Given the description of an element on the screen output the (x, y) to click on. 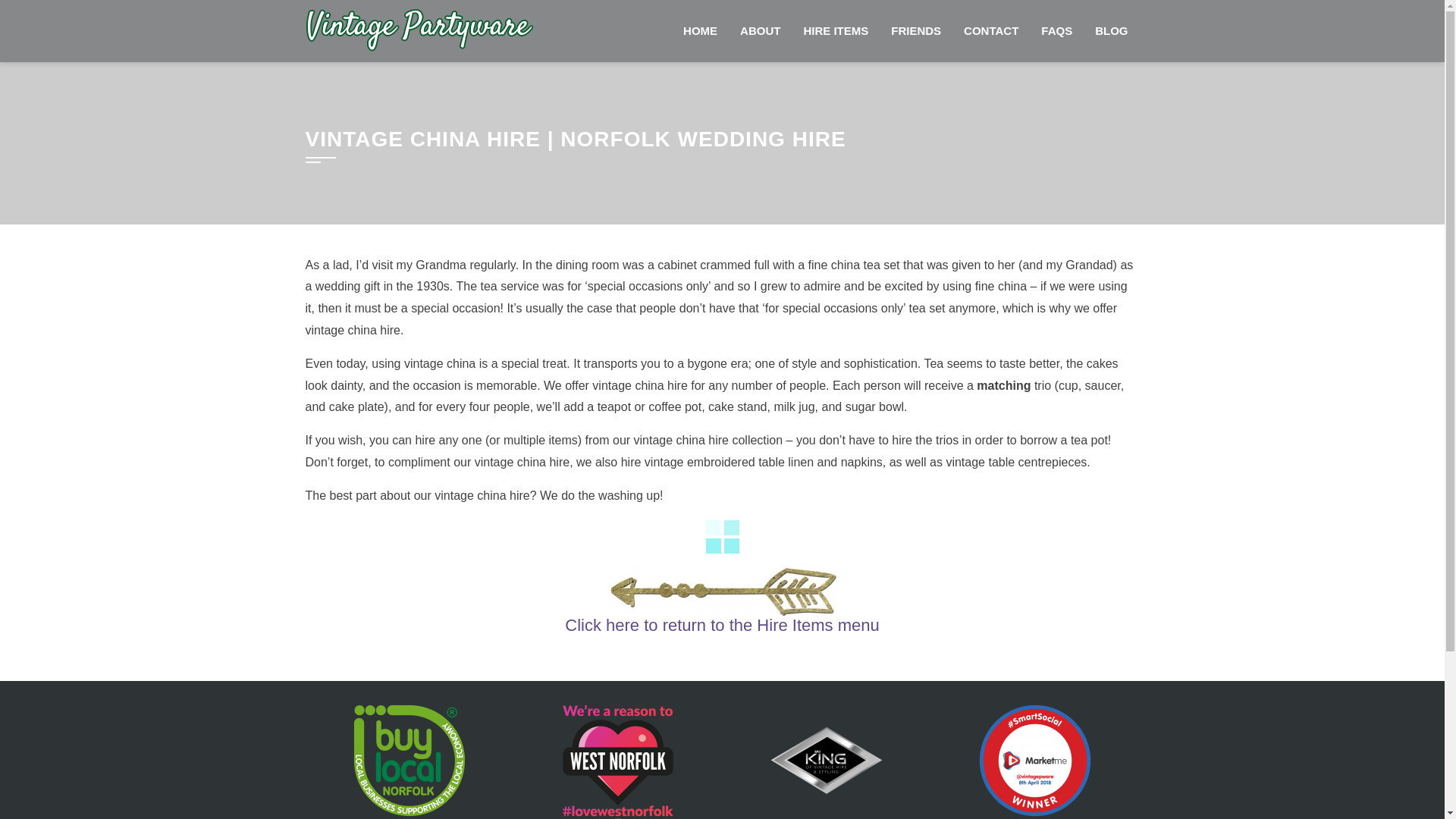
HIRE ITEMS (835, 31)
BLOG (1110, 31)
HOME (700, 31)
Click here to return to the Hire Items menu (721, 624)
CONTACT (990, 31)
FRIENDS (915, 31)
ABOUT (760, 31)
